Given the description of an element on the screen output the (x, y) to click on. 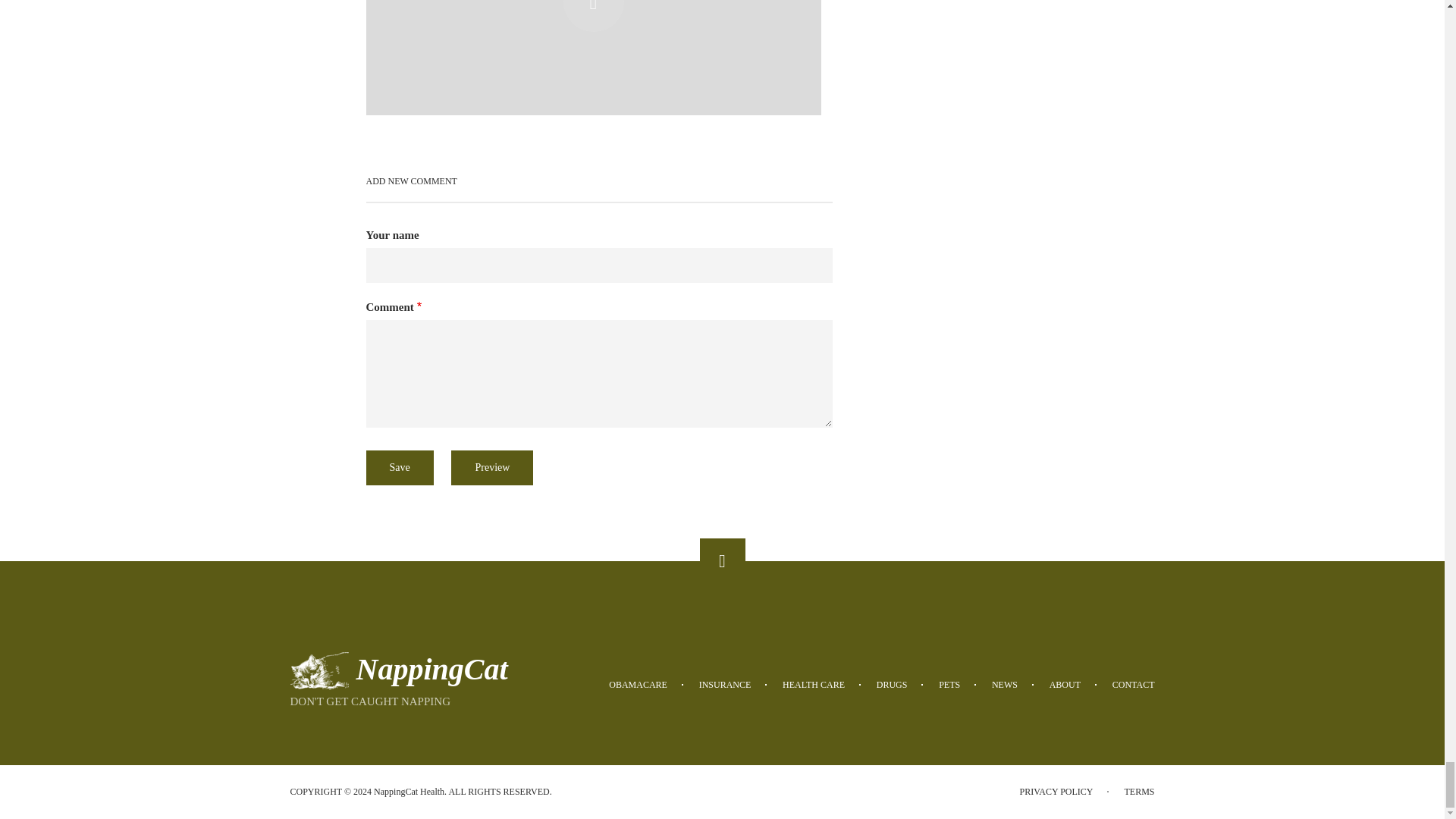
Preview (491, 467)
Save (398, 467)
